Given the description of an element on the screen output the (x, y) to click on. 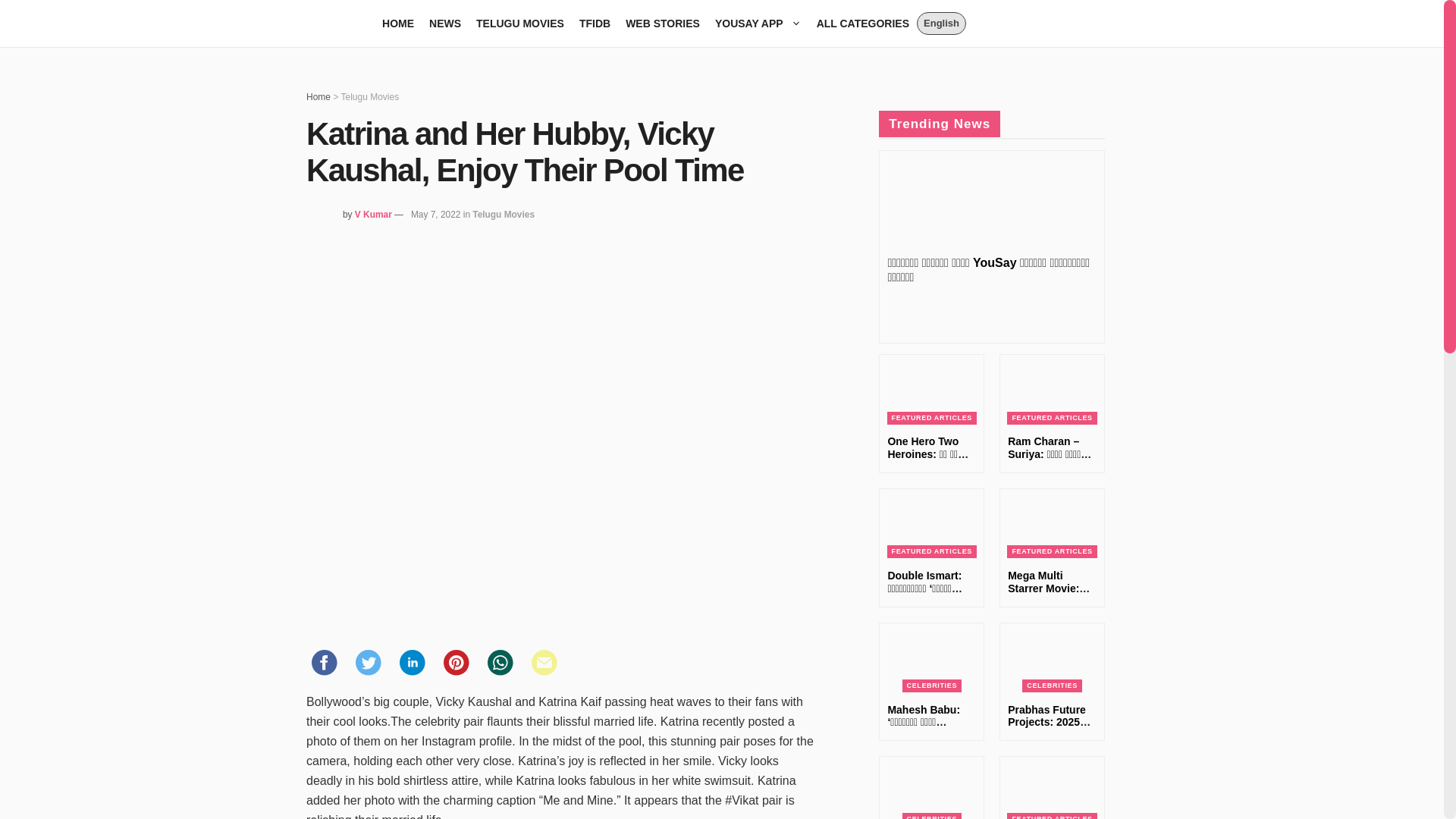
WEB STORIES (662, 22)
English (941, 23)
YOUSAY APP (758, 22)
HOME (398, 22)
TELUGU MOVIES (520, 22)
NEWS (445, 22)
ALL CATEGORIES (863, 22)
TFIDB (594, 22)
